Given the description of an element on the screen output the (x, y) to click on. 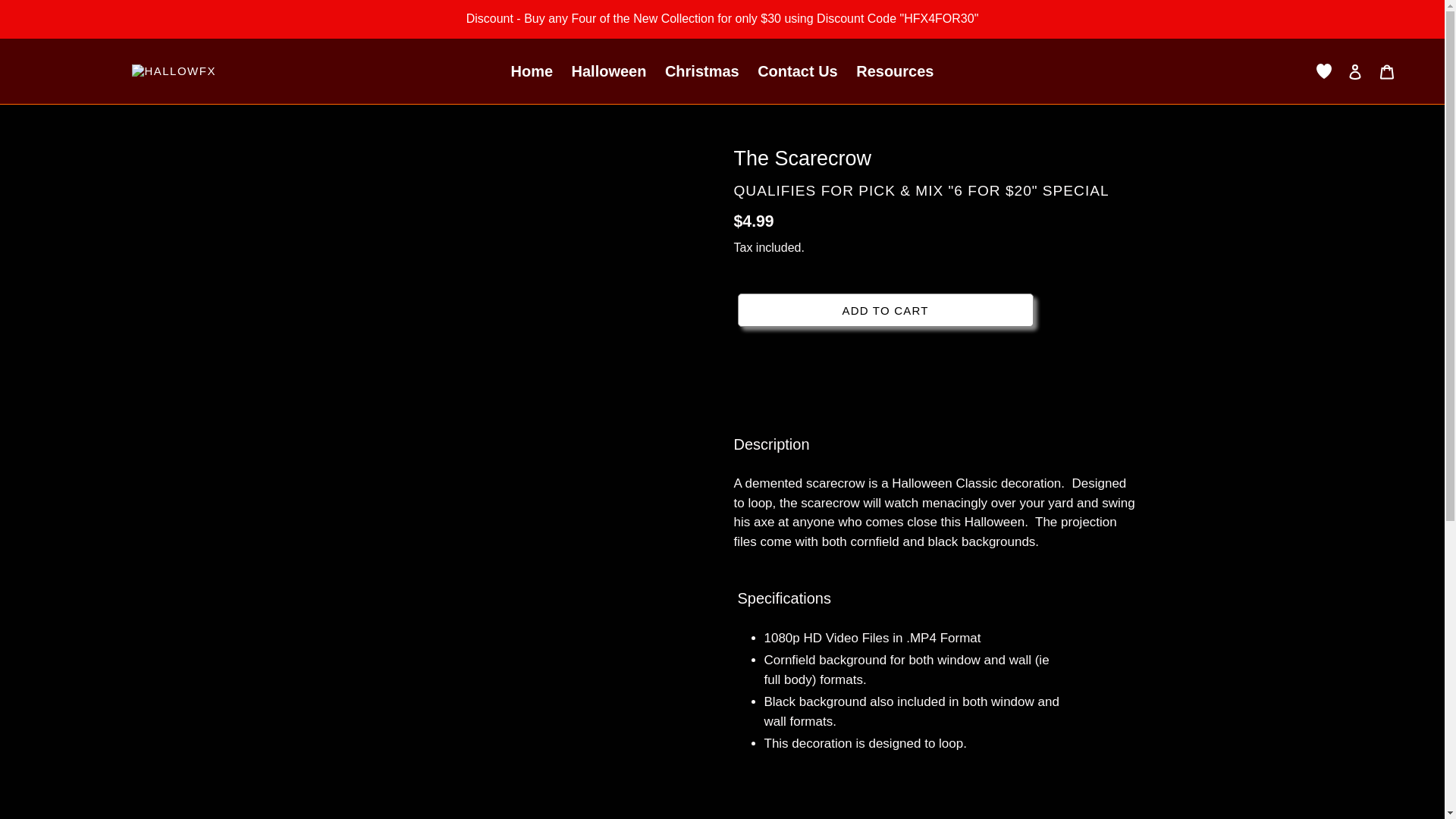
ADD TO CART (884, 309)
Resources (894, 71)
Christmas (702, 71)
Contact Us (797, 71)
Log in (1355, 71)
Home (531, 71)
Cart (1387, 71)
Halloween (608, 71)
Zombie Baseball.mp4 (437, 286)
